Given the description of an element on the screen output the (x, y) to click on. 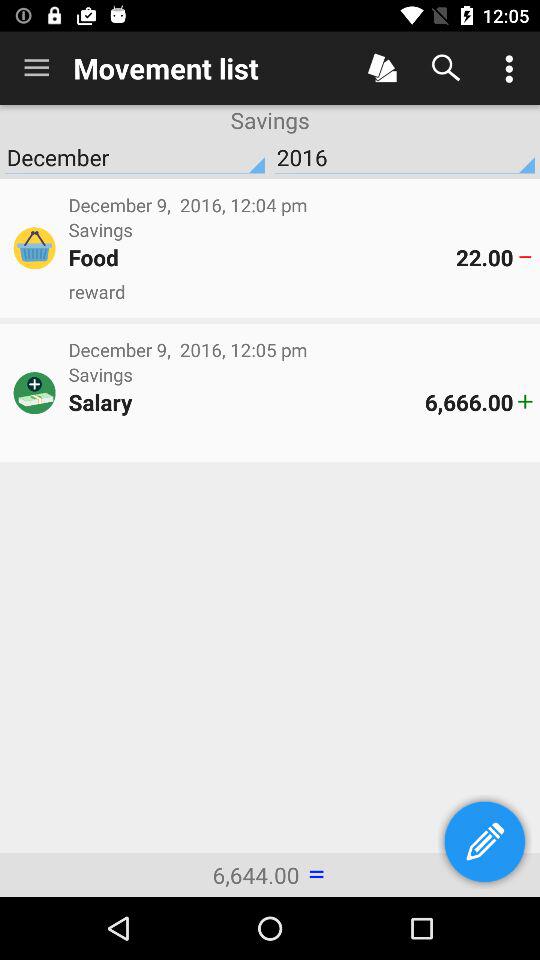
menu selection (382, 67)
